Given the description of an element on the screen output the (x, y) to click on. 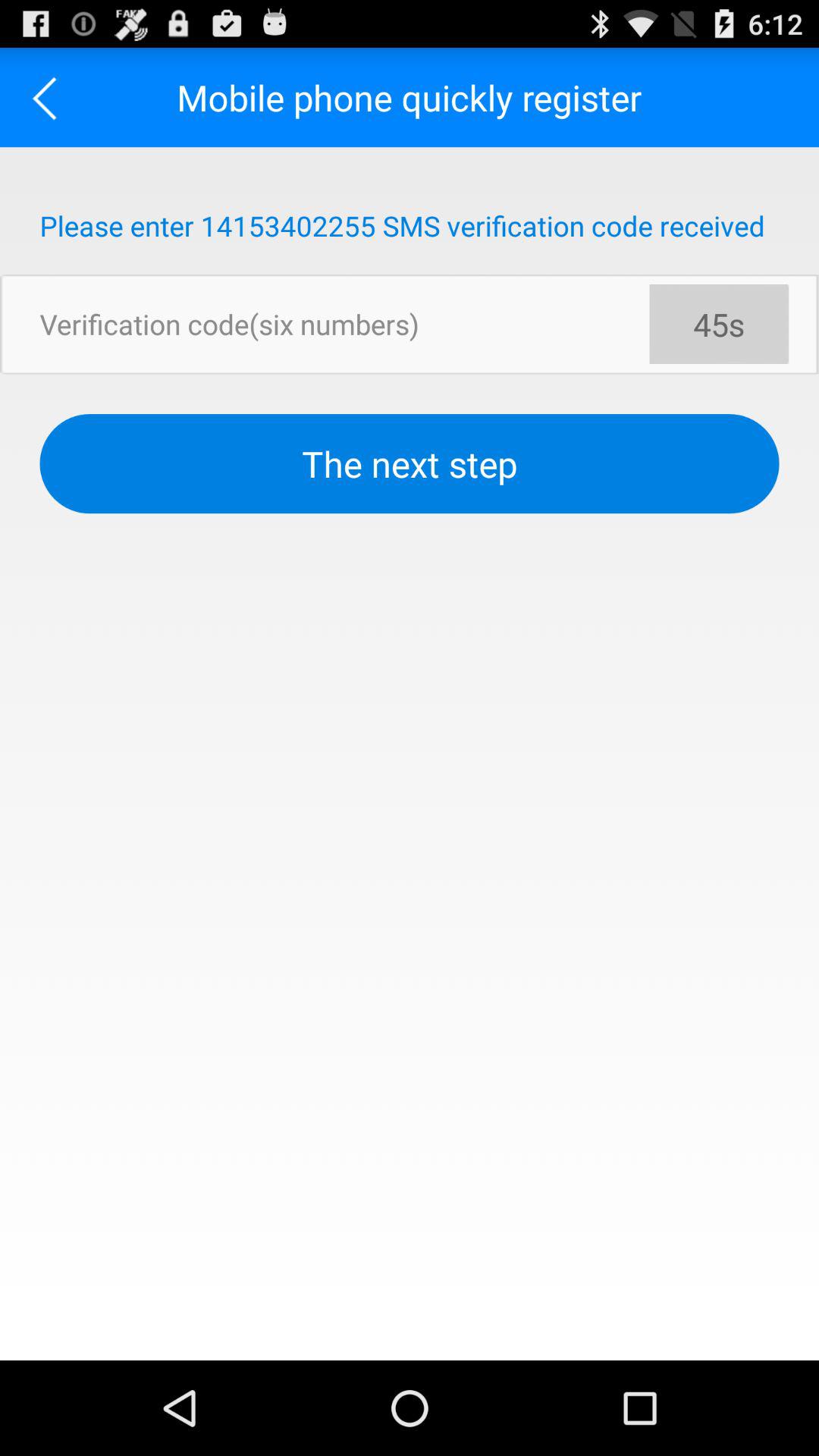
select the icon above please enter (49, 97)
